Given the description of an element on the screen output the (x, y) to click on. 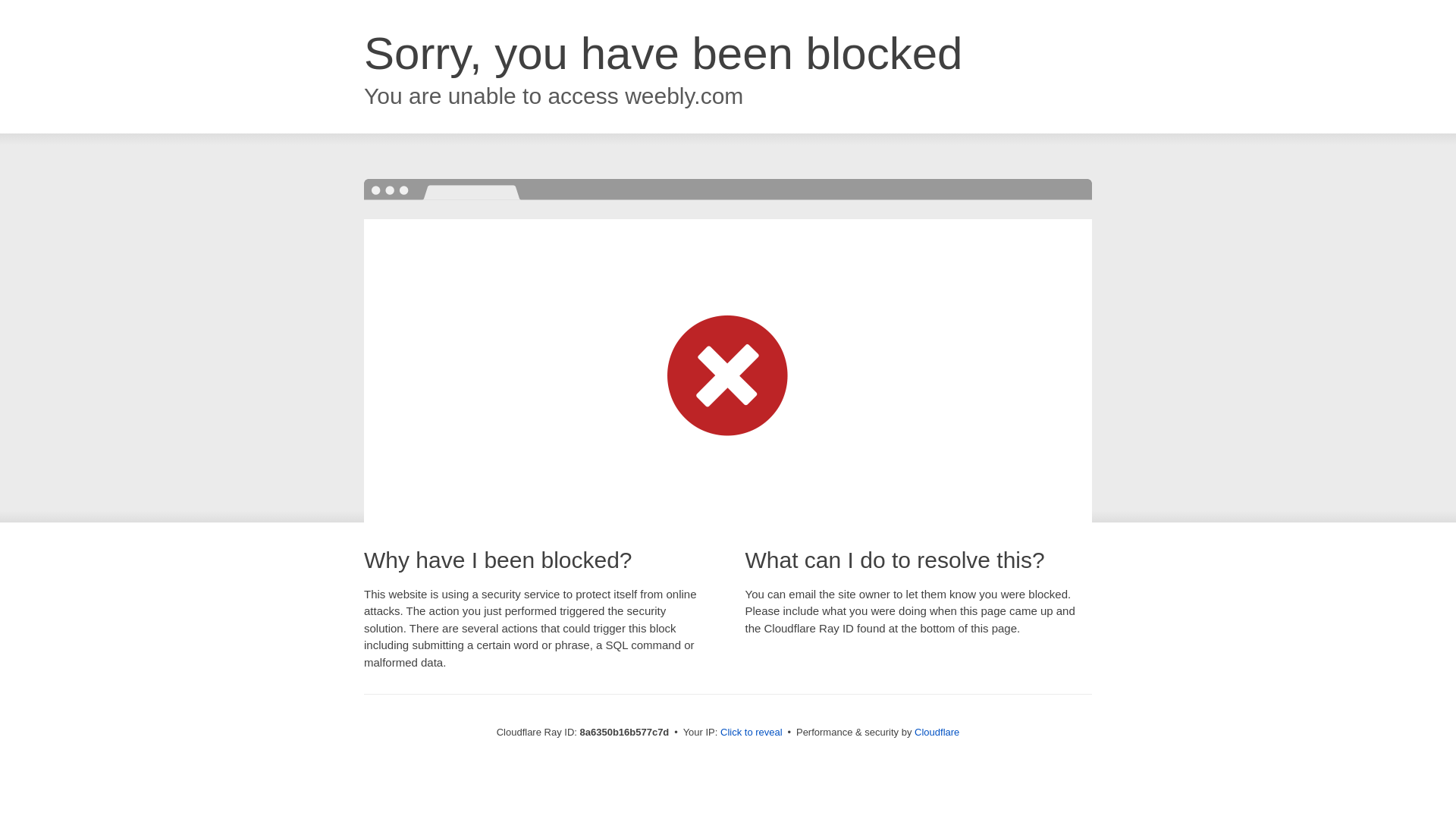
Click to reveal (751, 732)
Cloudflare (936, 731)
